Given the description of an element on the screen output the (x, y) to click on. 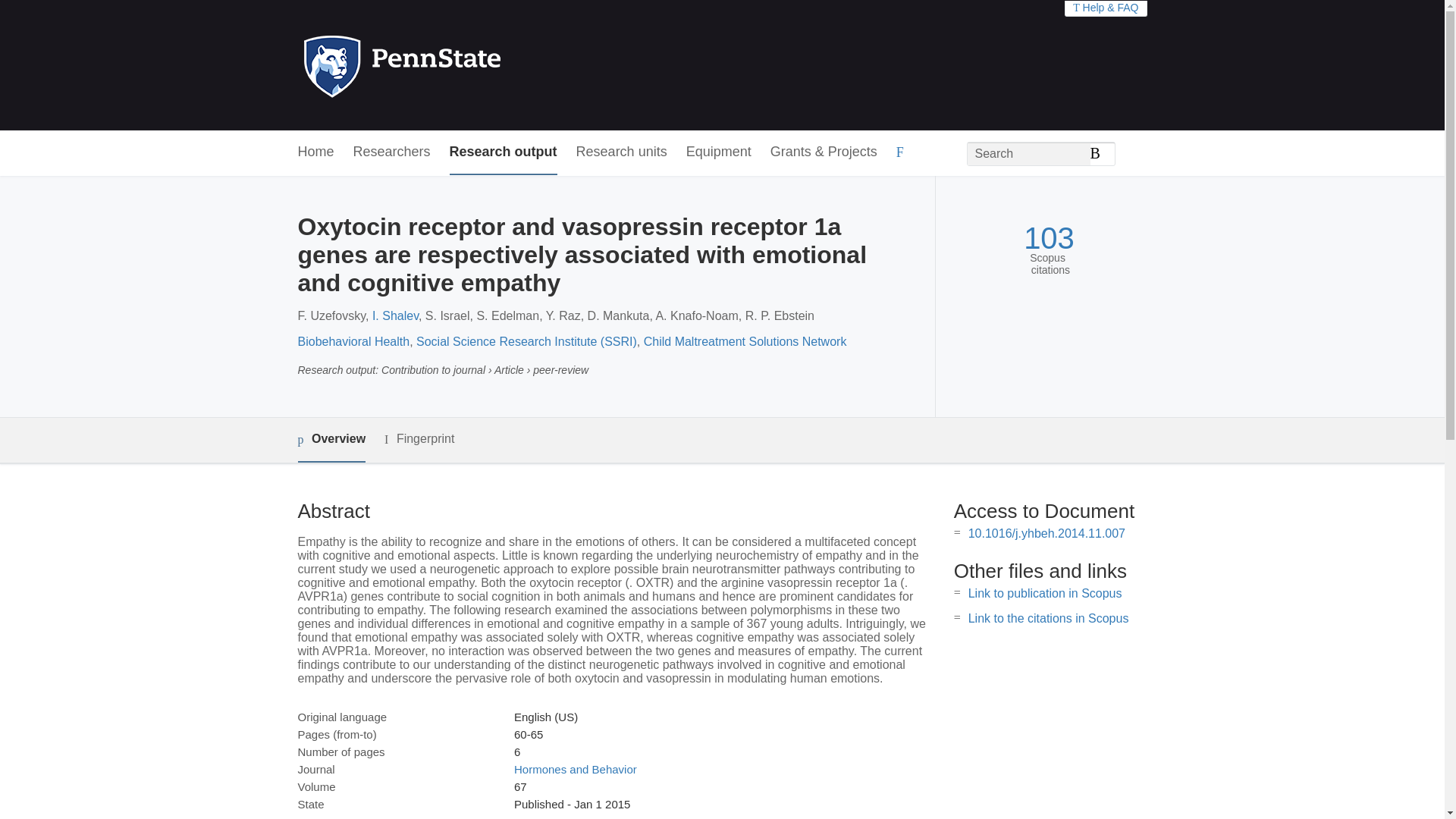
Research output (503, 152)
Equipment (718, 152)
Penn State Home (467, 65)
103 (1048, 238)
Biobehavioral Health (353, 341)
Researchers (391, 152)
Fingerprint (419, 439)
Research units (621, 152)
Child Maltreatment Solutions Network (745, 341)
Link to the citations in Scopus (1048, 617)
Overview (331, 439)
Link to publication in Scopus (1045, 593)
I. Shalev (395, 315)
Hormones and Behavior (575, 768)
